Given the description of an element on the screen output the (x, y) to click on. 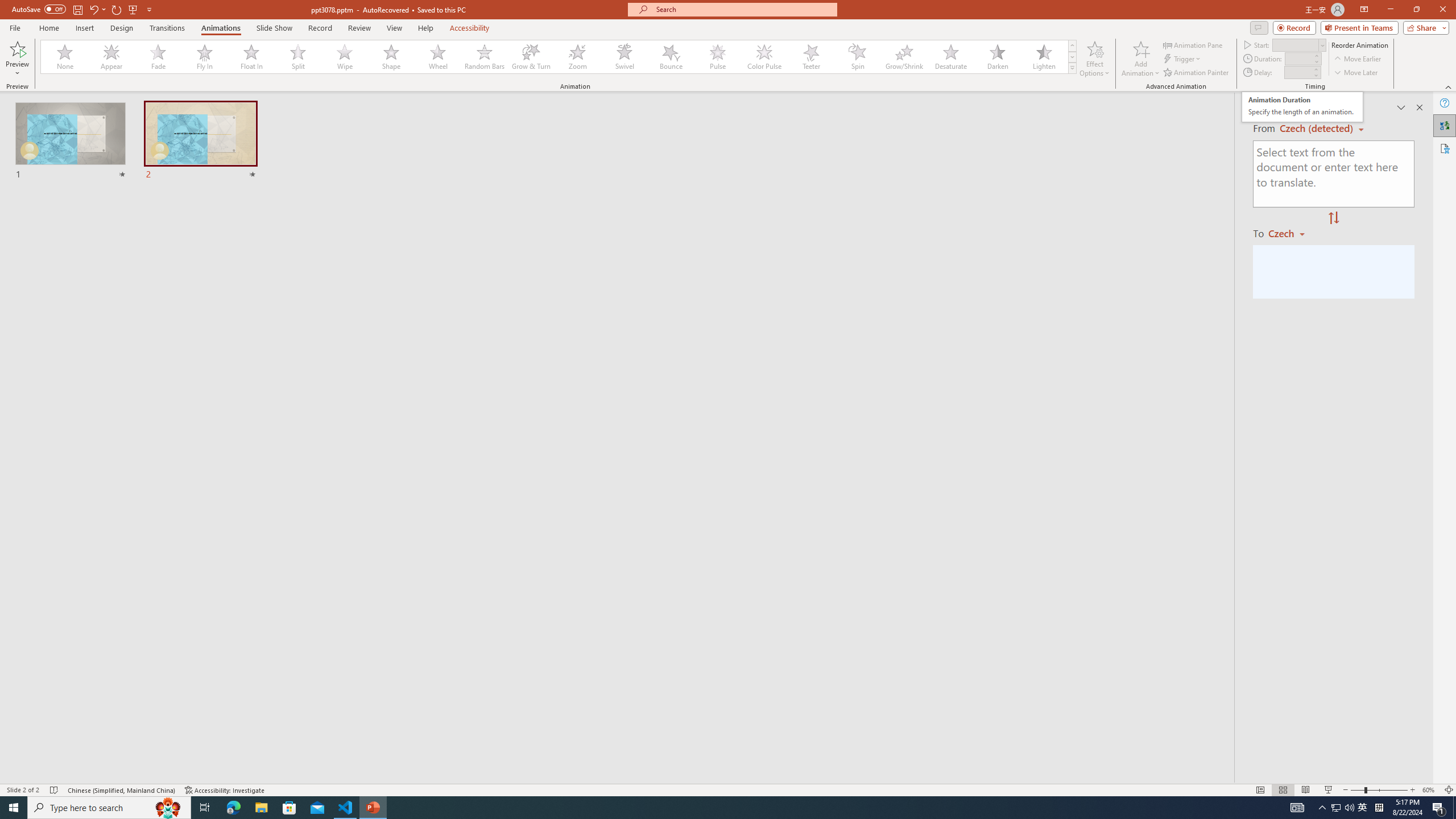
Animation Duration (1298, 58)
AutomationID: AnimationGallery (558, 56)
Fly In (205, 56)
